Given the description of an element on the screen output the (x, y) to click on. 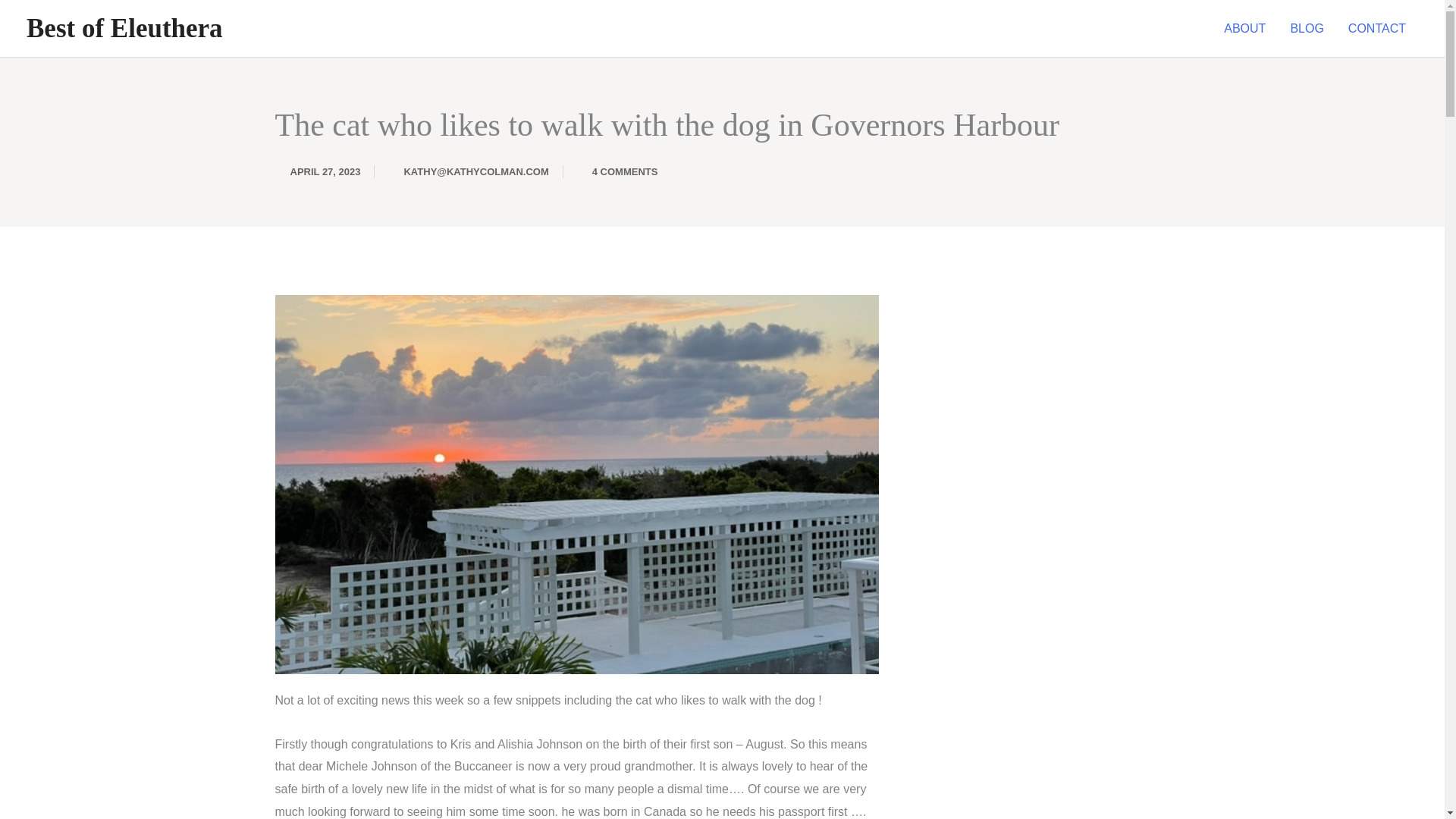
CONTACT (1377, 28)
APRIL 27, 2023 (317, 171)
BLOG (1306, 28)
ABOUT (1244, 28)
Best of Eleuthera (124, 28)
4 COMMENTS (617, 171)
